Given the description of an element on the screen output the (x, y) to click on. 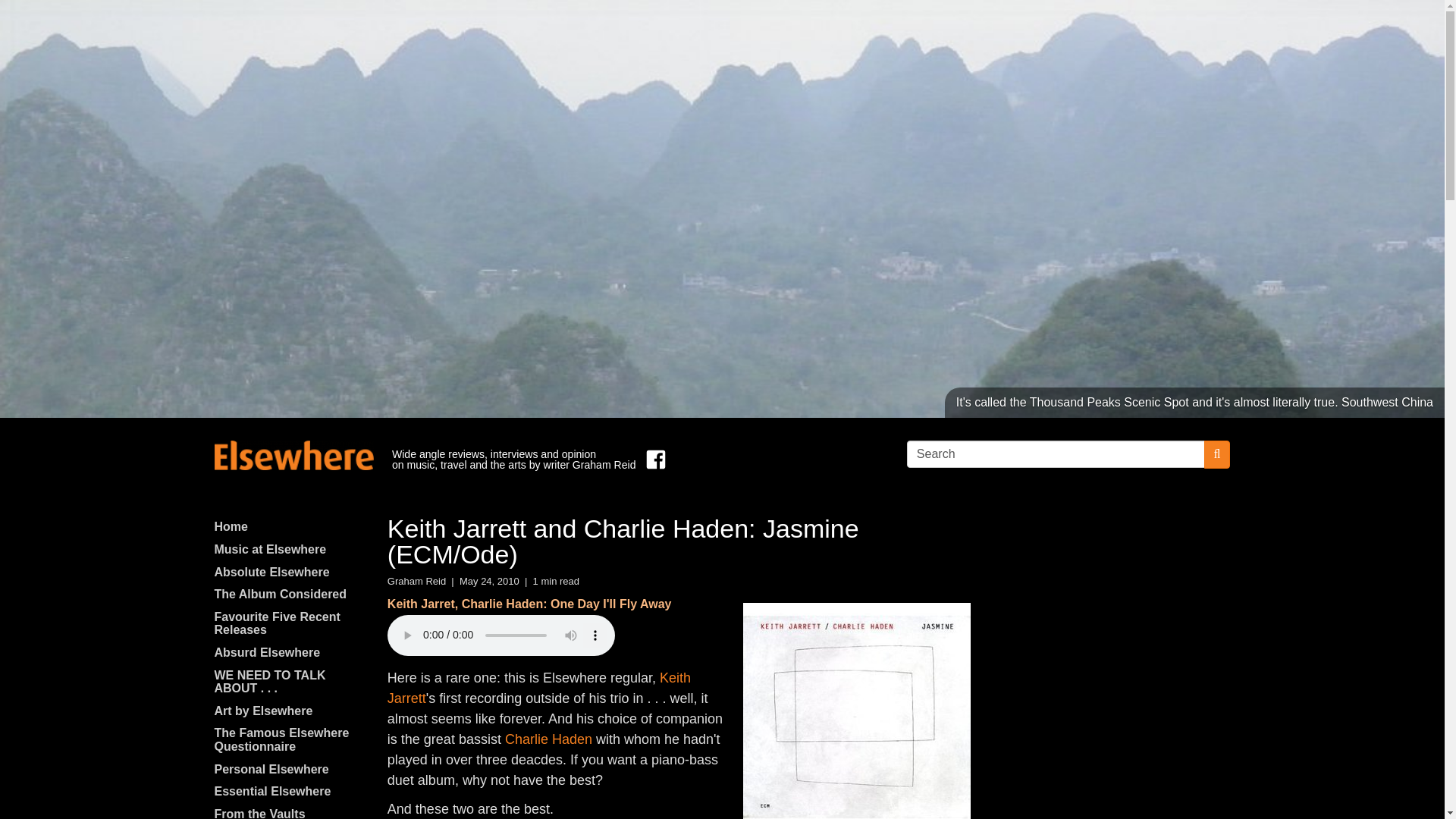
Search (1056, 453)
Find us on Facebook (652, 459)
Elsewhere by Graham Reid (293, 455)
Search (1056, 453)
